Given the description of an element on the screen output the (x, y) to click on. 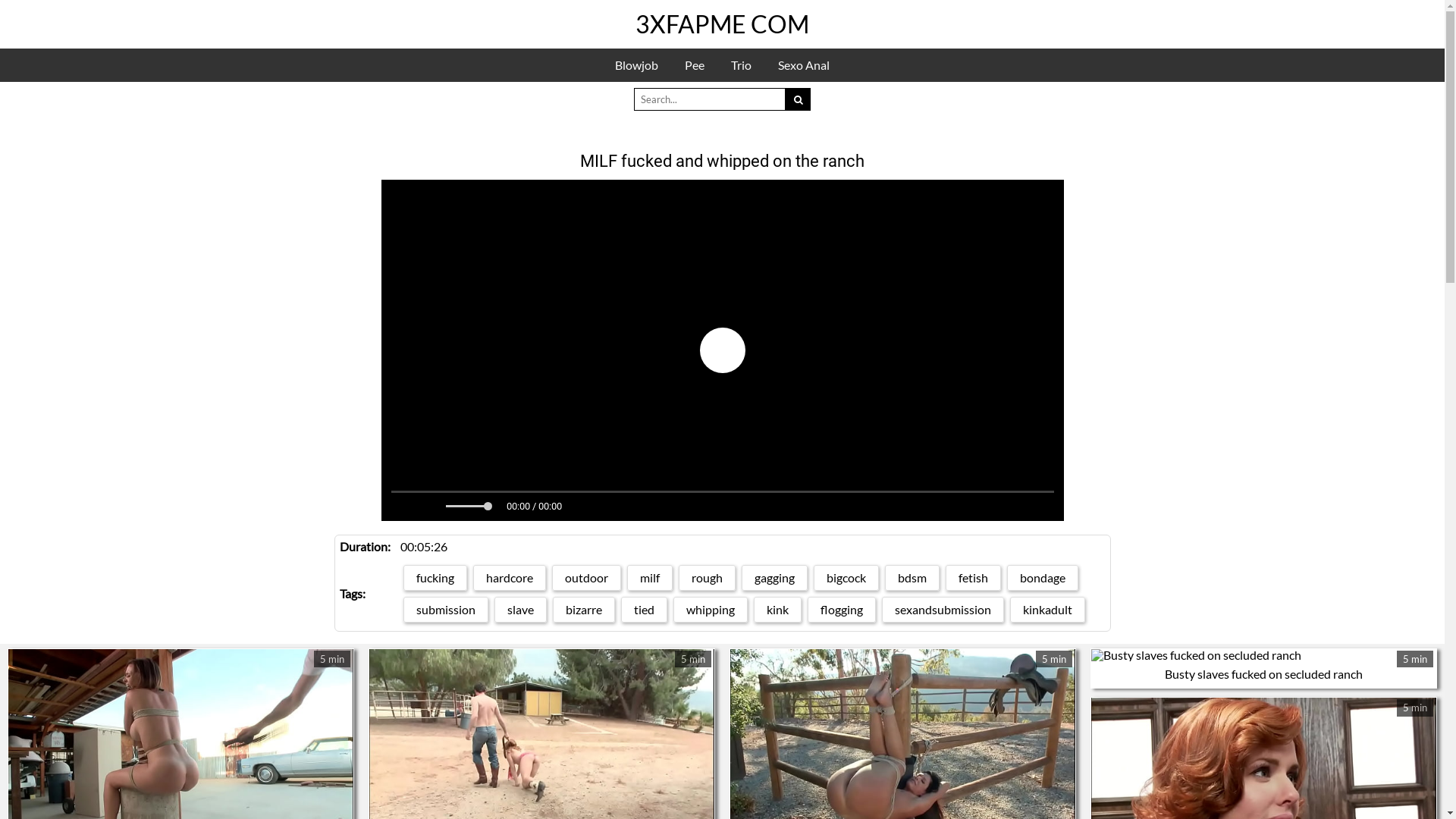
Pee Element type: text (694, 64)
submission Element type: text (445, 539)
Big dick cowboy anal fucks bound teen Element type: text (541, 785)
milf Element type: text (649, 507)
flogging Element type: text (841, 539)
bondage Element type: text (1042, 507)
gagging Element type: text (774, 507)
Big cock cowboy anal fucks bound MILF Element type: hover (902, 676)
Big dick cowboy anal fucks bound teen Element type: hover (541, 676)
rough Element type: text (706, 507)
tied Element type: text (644, 539)
Busty slaves fucked on secluded ranch Element type: hover (1263, 585)
Blowjob Element type: text (636, 64)
bigcock Element type: text (845, 507)
Criminal whip and fuck busty detective Element type: hover (180, 676)
Sexo Anal Element type: text (803, 64)
Trio Element type: text (740, 64)
Big cock cowboy anal fucks bound MILF Element type: text (903, 785)
kinkadult Element type: text (1047, 539)
slave Element type: text (520, 539)
bizarre Element type: text (583, 539)
Busty slaves fucked on secluded ranch Element type: text (1263, 603)
hardcore Element type: text (509, 507)
fucking Element type: text (435, 507)
Criminal whip and fuck busty detective Element type: text (180, 785)
bdsm Element type: text (911, 507)
3XFAPME COM Element type: text (722, 24)
fetish Element type: text (973, 507)
sexandsubmission Element type: text (942, 539)
kink Element type: text (777, 539)
whipping Element type: text (710, 539)
outdoor Element type: text (586, 507)
